Given the description of an element on the screen output the (x, y) to click on. 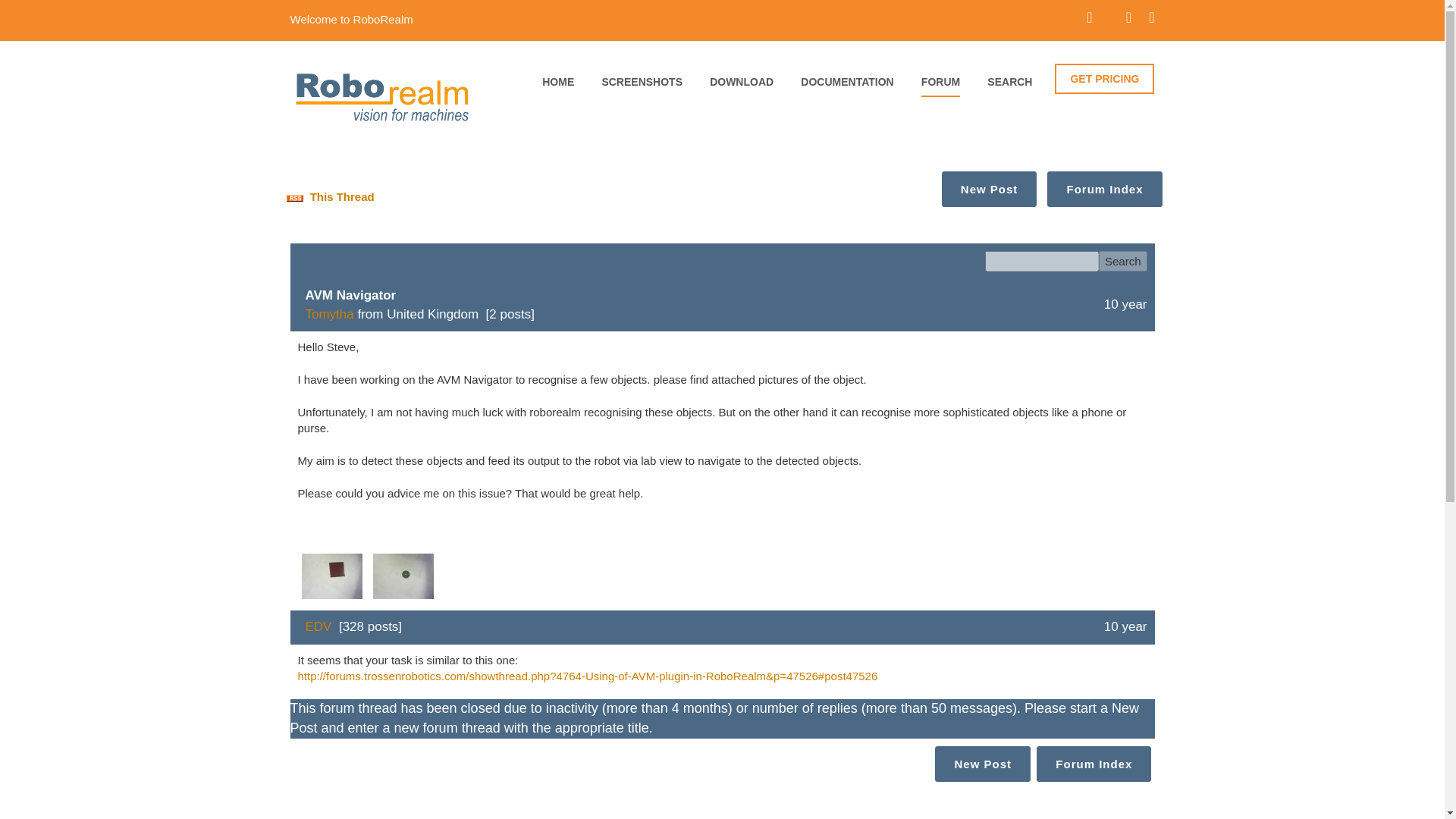
New Post (982, 764)
HOME (557, 86)
EDV (317, 626)
FORUM (940, 86)
Tomytha (328, 314)
SEARCH (1009, 86)
GET PRICING (1104, 78)
This Thread (328, 196)
Search (1123, 260)
DOCUMENTATION (846, 86)
SCREENSHOTS (641, 86)
Forum Index (1093, 764)
Forum Index (1103, 189)
Search (1123, 260)
New Post (989, 189)
